Given the description of an element on the screen output the (x, y) to click on. 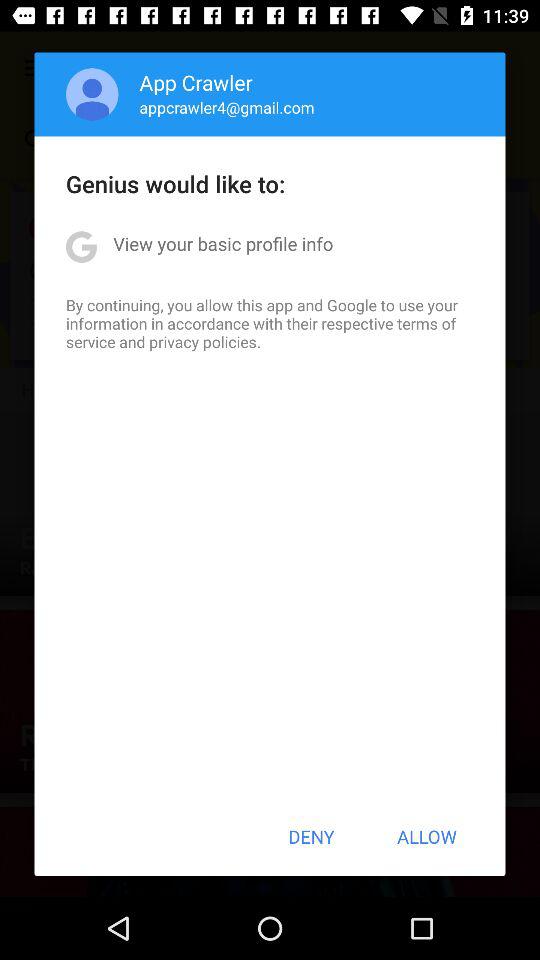
choose the app crawler icon (195, 82)
